Given the description of an element on the screen output the (x, y) to click on. 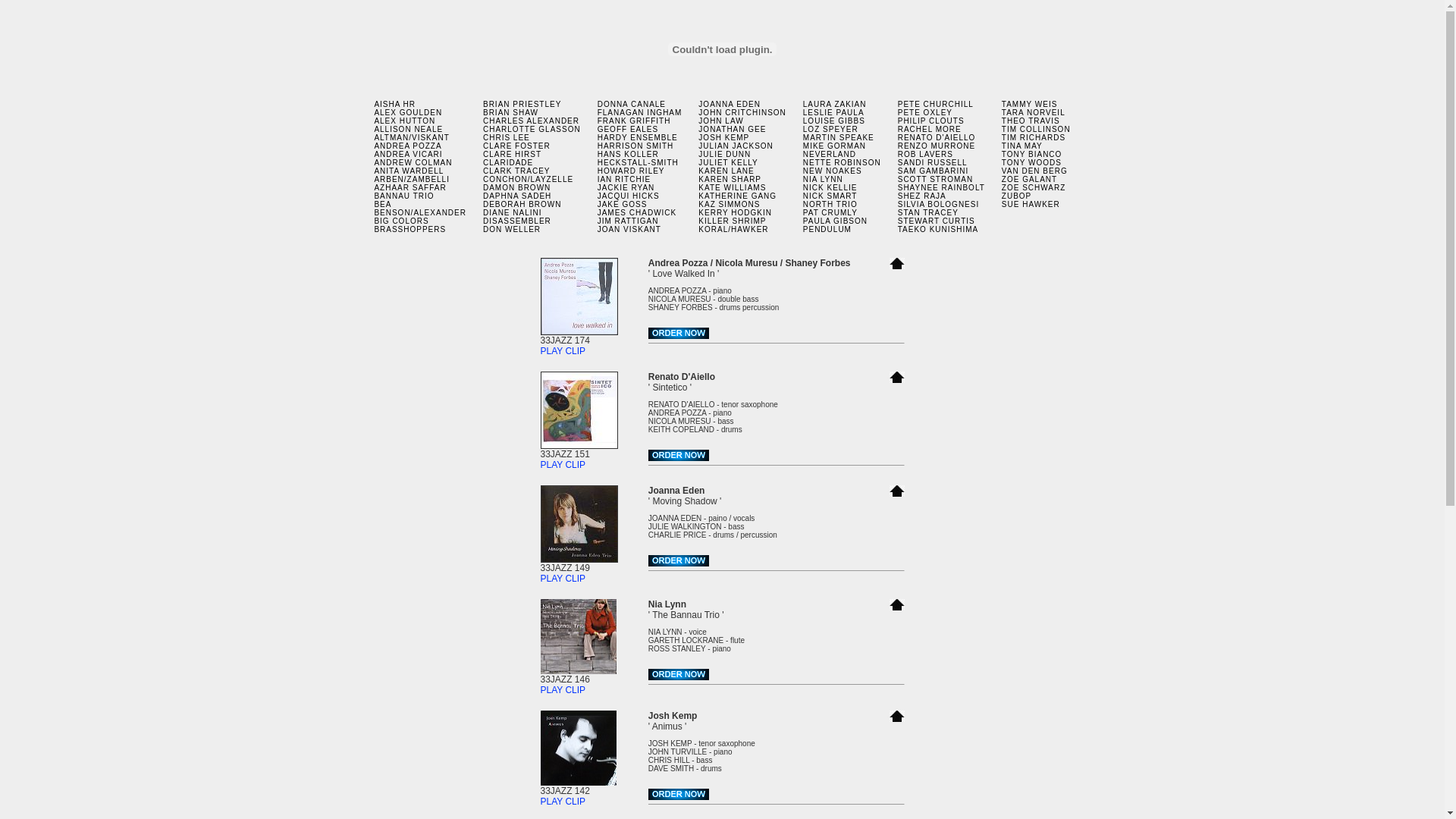
RACHEL MORE Element type: text (929, 129)
JOSH KEMP Element type: text (723, 137)
FLANAGAN INGHAM Element type: text (639, 112)
JOANNA EDEN Element type: text (729, 104)
AISHA HR Element type: text (394, 104)
CHARLOTTE GLASSON Element type: text (531, 129)
CHARLES ALEXANDER Element type: text (531, 120)
LOUISE GIBBS Element type: text (834, 120)
DAPHNA SADEH Element type: text (517, 195)
BENSON/ALEXANDER Element type: text (419, 212)
LOZ SPEYER Element type: text (830, 129)
NICK KELLIE Element type: text (830, 187)
CLARE FOSTER Element type: text (516, 145)
NETTE ROBINSON Element type: text (842, 162)
PLAY CLIP Element type: text (562, 578)
PENDULUM Element type: text (827, 229)
JOHN LAW Element type: text (720, 120)
JULIE DUNN Element type: text (724, 154)
PLAY CLIP Element type: text (562, 801)
KAREN LANE Element type: text (725, 170)
CLARIDADE Element type: text (508, 162)
ANITA WARDELL Element type: text (408, 170)
JAKE GOSS Element type: text (622, 204)
SCOTT STROMAN Element type: text (934, 179)
KORAL/HAWKER Element type: text (733, 229)
HOWARD RILEY Element type: text (631, 170)
FRANK GRIFFITH Element type: text (634, 120)
TAMMY WEIS Element type: text (1029, 104)
DONNA CANALE Element type: text (631, 104)
PETE OXLEY Element type: text (924, 112)
TINA MAY Element type: text (1021, 145)
ZOE SCHWARZ Element type: text (1033, 187)
THEO TRAVIS Element type: text (1030, 120)
JIM RATTIGAN Element type: text (627, 220)
SUE HAWKER Element type: text (1030, 204)
BRIAN SHAW Element type: text (510, 112)
ALEX GOULDEN Element type: text (407, 112)
PAT CRUMLY Element type: text (830, 212)
GEOFF EALES Element type: text (627, 129)
HARRISON SMITH Element type: text (635, 145)
KILLER SHRIMP Element type: text (731, 220)
DON WELLER Element type: text (511, 229)
DISASSEMBLER Element type: text (517, 220)
BANNAU TRIO Element type: text (403, 195)
KAZ SIMMONS Element type: text (728, 204)
ANDREA POZZA Element type: text (407, 145)
SILVIA BOLOGNESI Element type: text (938, 204)
ALEX HUTTON Element type: text (404, 120)
BEA Element type: text (382, 204)
TAEKO KUNISHIMA Element type: text (938, 229)
MIKE GORMAN Element type: text (834, 145)
DAMON BROWN Element type: text (516, 187)
PLAY CLIP Element type: text (562, 689)
JULIAN JACKSON Element type: text (735, 145)
KATHERINE GANG Element type: text (737, 195)
TARA NORVEIL Element type: text (1033, 112)
KERRY HODGKIN Element type: text (734, 212)
VAN DEN BERG Element type: text (1034, 170)
ZOE GALANT Element type: text (1029, 179)
ANDREA VICARI Element type: text (407, 154)
HECKSTALL-SMITH Element type: text (637, 162)
CHRIS LEE Element type: text (506, 137)
RENATO D'AIELLO Element type: text (936, 137)
BRIAN PRIESTLEY Element type: text (522, 104)
STAN TRACEY Element type: text (927, 212)
SAM GAMBARINI Element type: text (933, 170)
MARTIN SPEAKE Element type: text (838, 137)
33JAZZ 151 Element type: text (578, 449)
ZUBOP Element type: text (1016, 195)
CONCHON/LAYZELLE Element type: text (528, 179)
NIA LYNN Element type: text (823, 179)
PLAY CLIP Element type: text (562, 464)
TONY BIANCO Element type: text (1031, 154)
PHILIP CLOUTS Element type: text (930, 120)
CLARK TRACEY Element type: text (516, 170)
33JAZZ 146 Element type: text (577, 674)
ALLISON NEALE Element type: text (407, 129)
NICK SMART Element type: text (830, 195)
RENZO MURRONE Element type: text (936, 145)
33JAZZ 142 Element type: text (577, 786)
ALTMAN/VISKANT Element type: text (410, 137)
LESLIE PAULA Element type: text (833, 112)
AZHAAR SAFFAR Element type: text (409, 187)
TONY WOODS Element type: text (1031, 162)
PETE CHURCHILL Element type: text (935, 104)
NORTH TRIO Element type: text (830, 204)
LAURA ZAKIAN Element type: text (834, 104)
CLARE HIRST Element type: text (512, 154)
JAMES CHADWICK Element type: text (637, 212)
ANDREW COLMAN Element type: text (412, 162)
BRASSHOPPERS Element type: text (409, 229)
KATE WILLIAMS Element type: text (731, 187)
33JAZZ 174 Element type: text (578, 335)
STEWART CURTIS Element type: text (936, 220)
SHEZ RAJA Element type: text (921, 195)
JULIET KELLY Element type: text (727, 162)
ROB LAVERS Element type: text (925, 154)
JONATHAN GEE Element type: text (731, 129)
PLAY CLIP Element type: text (562, 350)
JOHN CRITCHINSON Element type: text (741, 112)
TIM RICHARDS Element type: text (1033, 137)
HANS KOLLER Element type: text (627, 154)
IAN RITCHIE Element type: text (623, 179)
JACKIE RYAN Element type: text (626, 187)
HARDY ENSEMBLE Element type: text (637, 137)
DIANE NALINI Element type: text (512, 212)
DEBORAH BROWN Element type: text (522, 204)
JACQUI HICKS Element type: text (628, 195)
NEVERLAND Element type: text (829, 154)
PAULA GIBSON Element type: text (835, 220)
KAREN SHARP Element type: text (729, 179)
NEW NOAKES Element type: text (832, 170)
ARBEN/ZAMBELLI Element type: text (411, 179)
SANDI RUSSELL Element type: text (932, 162)
BIG COLORS Element type: text (400, 220)
SHAYNEE RAINBOLT Element type: text (941, 187)
JOAN VISKANT Element type: text (629, 229)
33JAZZ 149 Element type: text (578, 563)
TIM COLLINSON Element type: text (1035, 129)
